Given the description of an element on the screen output the (x, y) to click on. 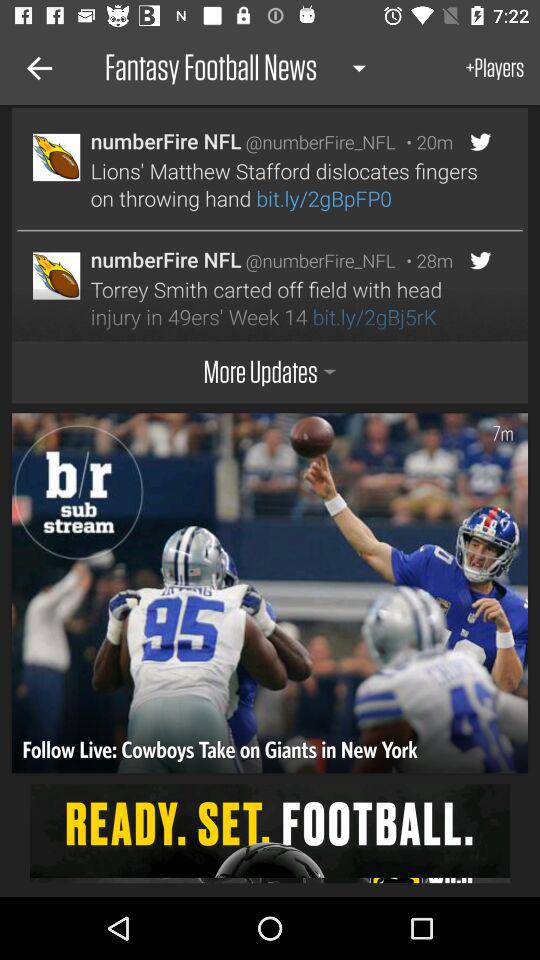
jump to follow live cowboys icon (222, 753)
